Given the description of an element on the screen output the (x, y) to click on. 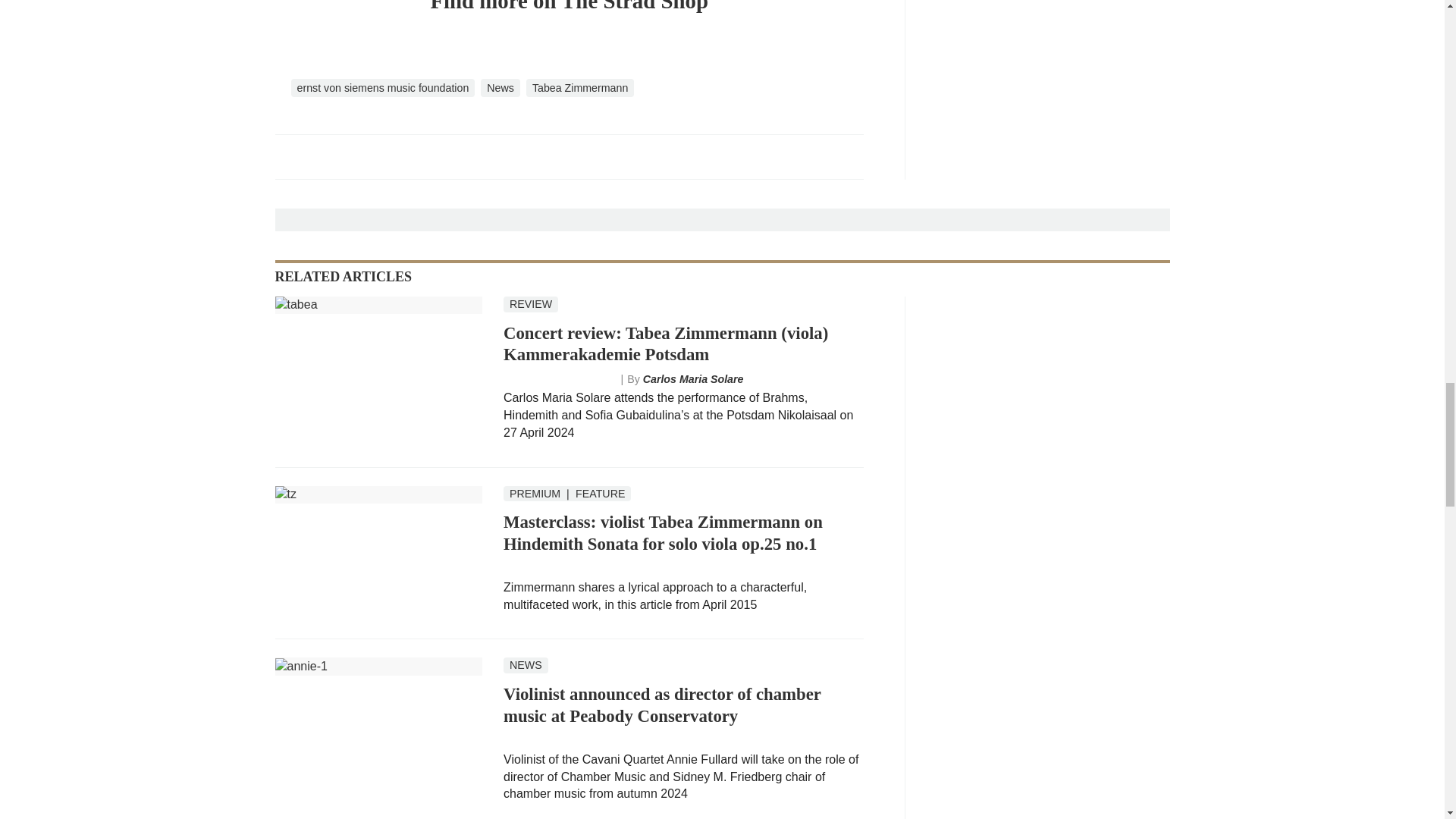
No comments (840, 165)
Share this on Facebook (288, 155)
Share this on Twitter (320, 155)
Share this on Linked in (352, 155)
Email this article (386, 155)
